Given the description of an element on the screen output the (x, y) to click on. 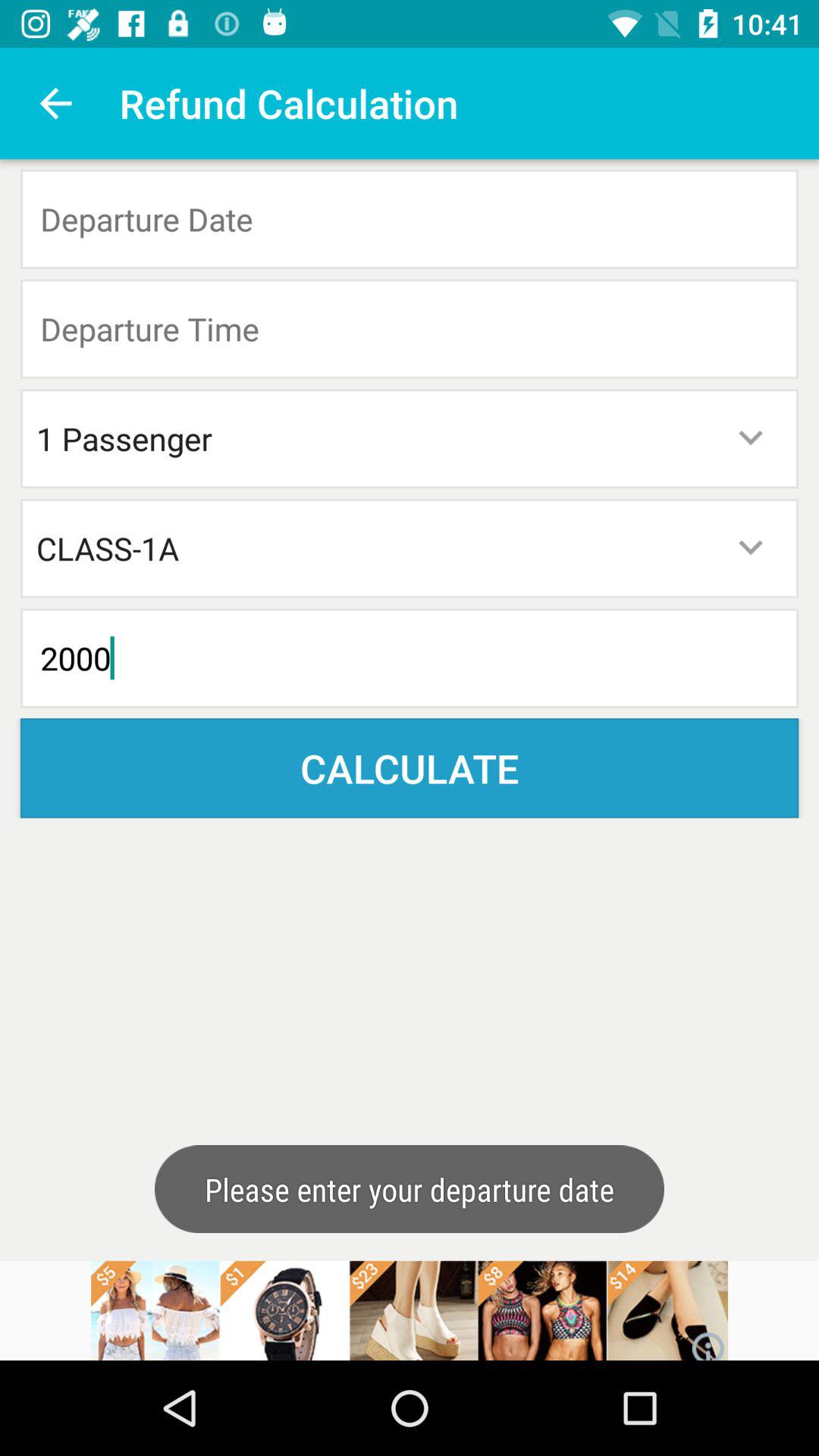
advertisement banner (409, 1310)
